Given the description of an element on the screen output the (x, y) to click on. 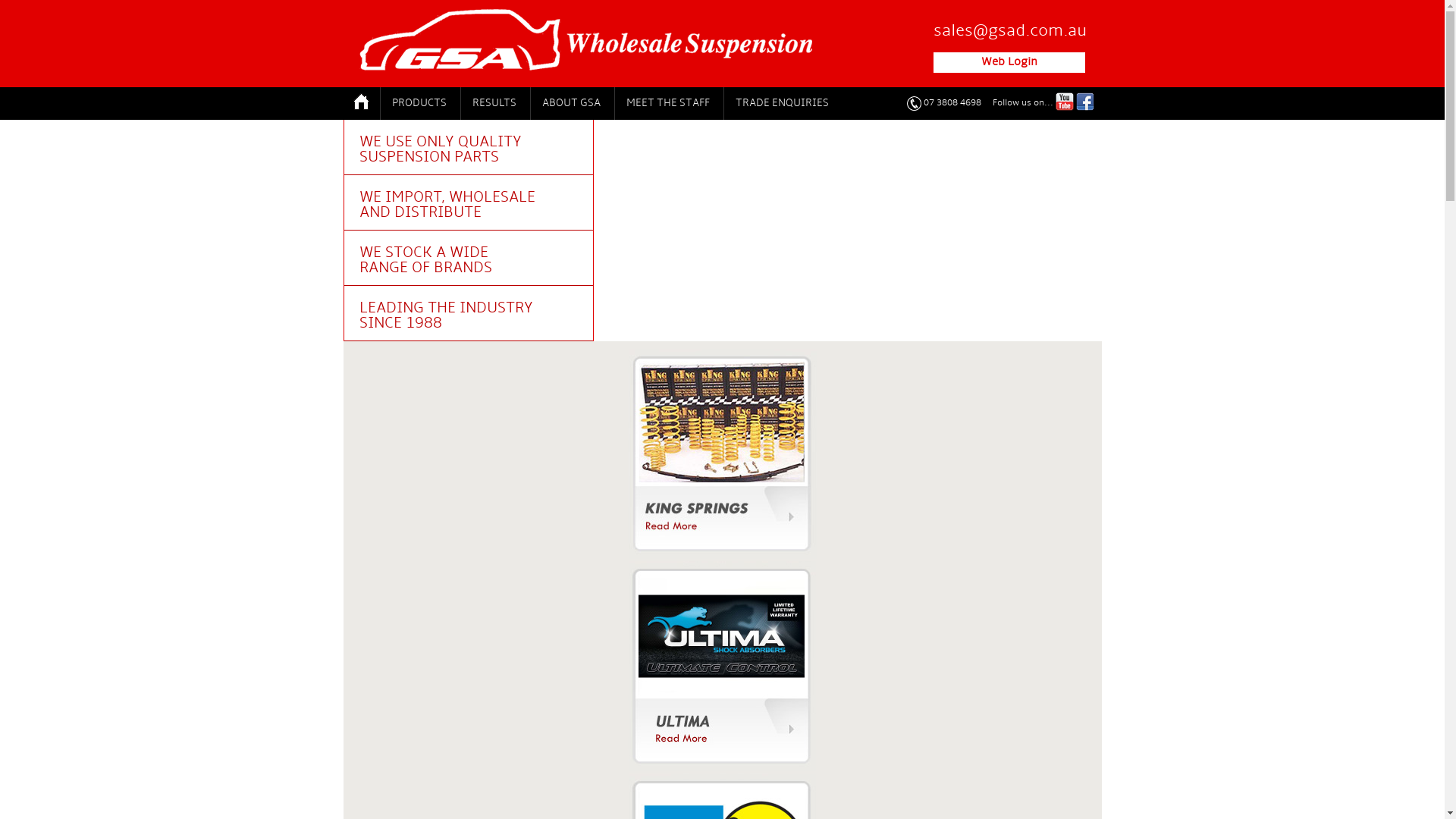
MEET THE STAFF Element type: text (667, 103)
ABOUT GSA Element type: text (570, 103)
TRADE ENQUIRIES Element type: text (781, 103)
sales@gsad.com.au Element type: text (1008, 31)
Web Login Element type: text (1008, 62)
PRODUCTS Element type: text (418, 103)
RESULTS Element type: text (493, 103)
